Given the description of an element on the screen output the (x, y) to click on. 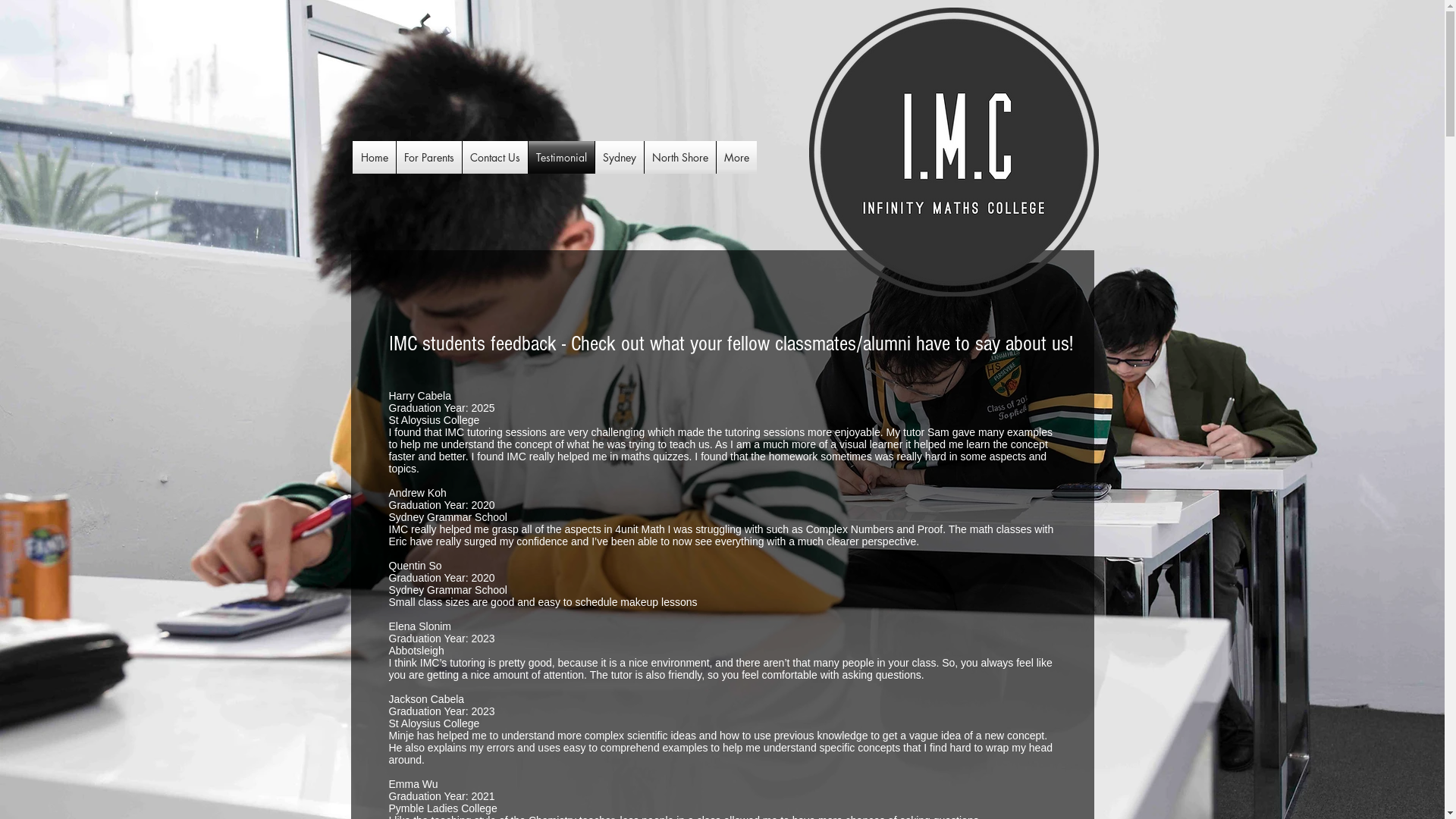
North Shore Element type: text (679, 157)
Testimonial Element type: text (560, 157)
Home Element type: text (374, 157)
Sydney Element type: text (618, 157)
For Parents Element type: text (428, 157)
Contact Us Element type: text (494, 157)
